Given the description of an element on the screen output the (x, y) to click on. 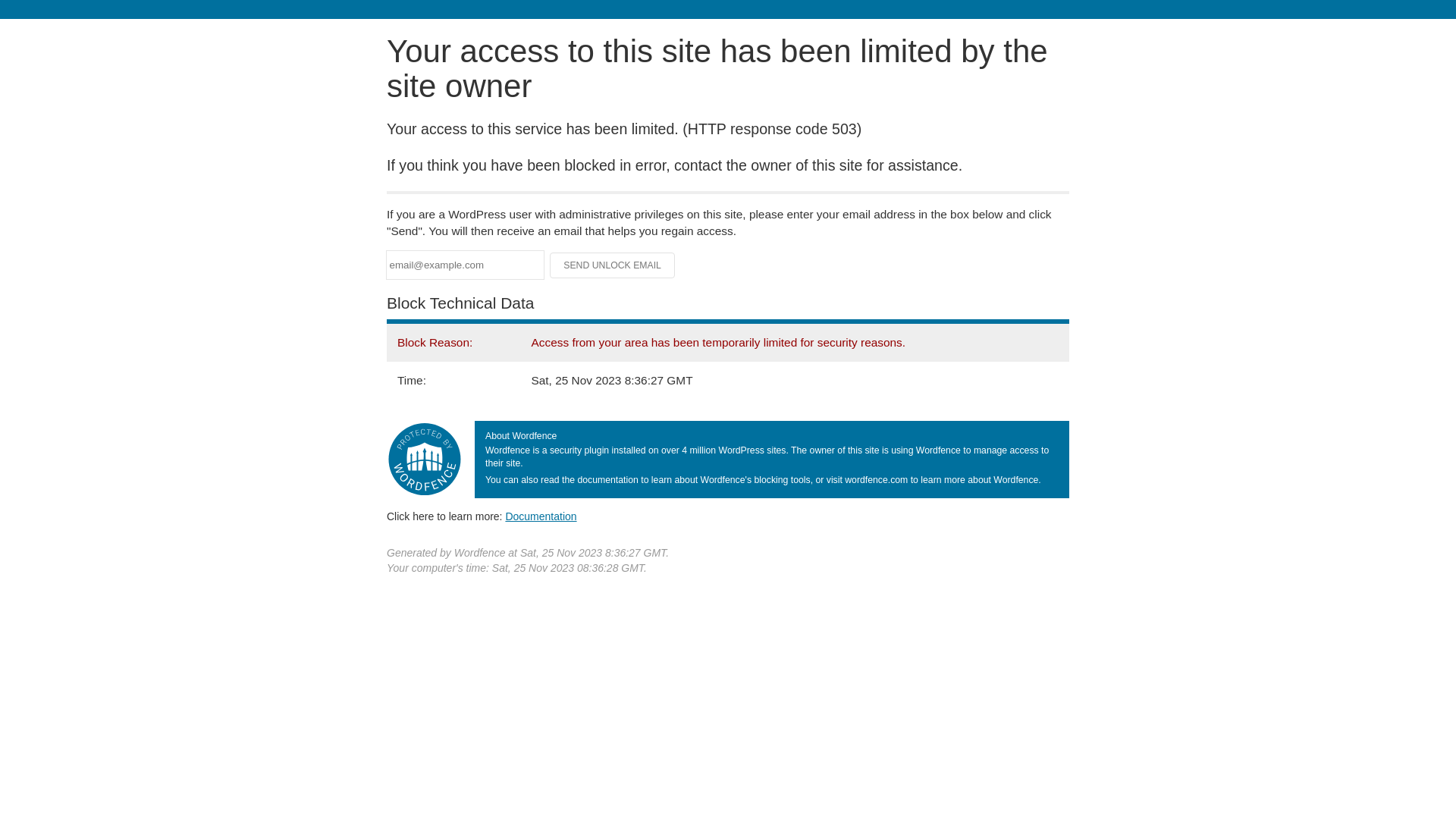
Documentation Element type: text (540, 516)
Send Unlock Email Element type: text (612, 265)
